Given the description of an element on the screen output the (x, y) to click on. 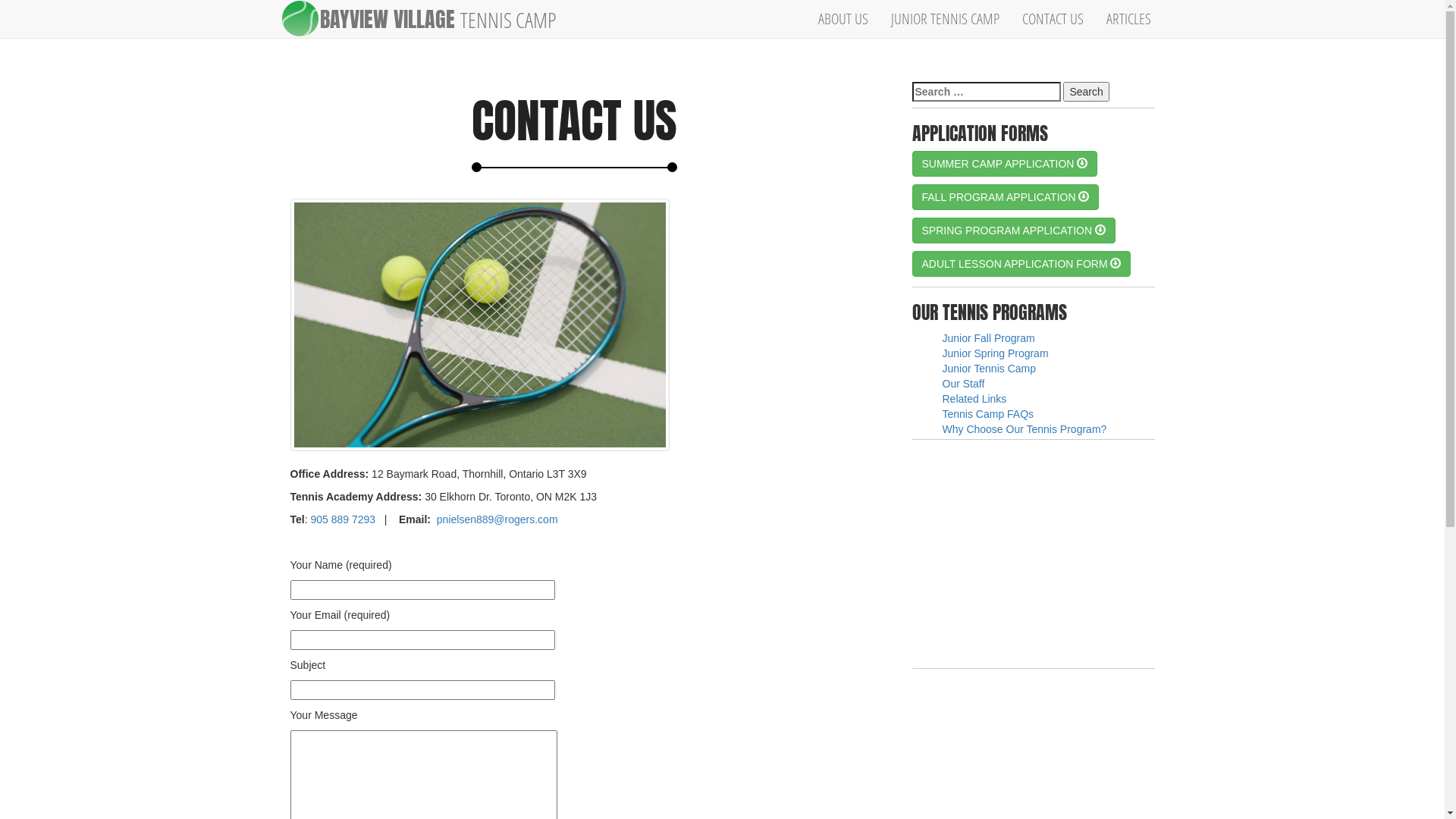
Junior Tennis Camp Element type: text (988, 368)
ADULT LESSON APPLICATION FORM Element type: text (1020, 263)
Our Staff Element type: text (962, 383)
Related Links Element type: text (973, 398)
CONTACT US Element type: text (1052, 18)
SUMMER CAMP APPLICATION Element type: text (1004, 163)
FALL PROGRAM APPLICATION Element type: text (1004, 197)
Search Element type: text (1085, 91)
SPRING PROGRAM APPLICATION Element type: text (1012, 230)
Tennis lessons toronto Element type: hover (478, 324)
ABOUT US Element type: text (842, 18)
Why Choose Our Tennis Program? Element type: text (1023, 429)
ARTICLES Element type: text (1128, 18)
Tennis lessons toronto Element type: hover (573, 324)
pnielsen889@rogers.com Element type: text (497, 519)
905 889 7293 Element type: text (342, 519)
Junior Spring Program Element type: text (994, 353)
Tennis Camp FAQs Element type: text (987, 413)
BAYVIEW VILLAGE TENNIS CAMP Element type: text (442, 18)
JUNIOR TENNIS CAMP Element type: text (944, 18)
Junior Fall Program Element type: text (987, 338)
